Given the description of an element on the screen output the (x, y) to click on. 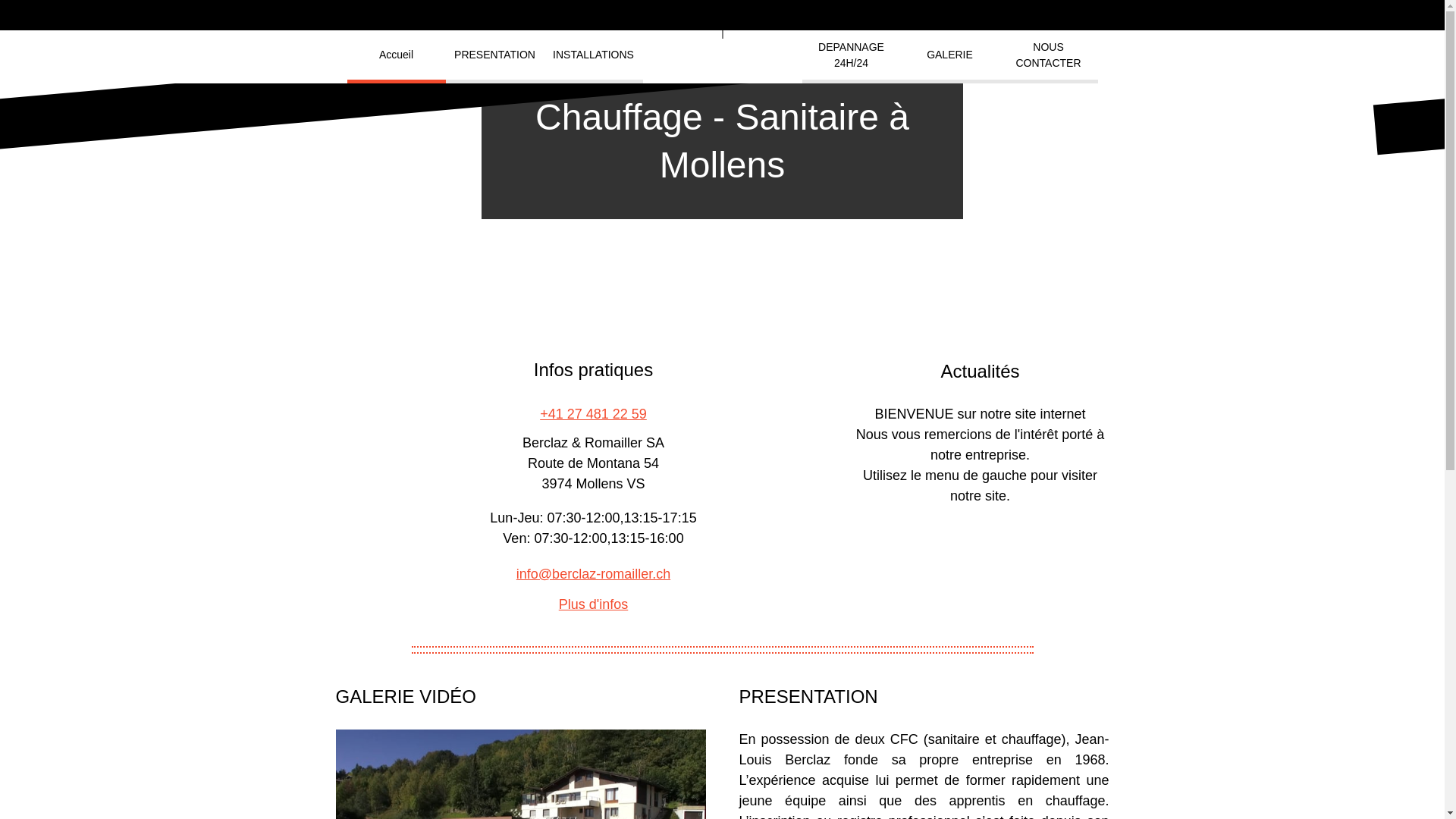
+41 27 481 22 59 Element type: text (592, 413)
PRESENTATION Element type: text (494, 56)
NOUS CONTACTER Element type: text (1048, 56)
Accueil Element type: text (396, 56)
INSTALLATIONS Element type: text (593, 56)
DEPANNAGE 24H/24 Element type: text (851, 56)
Plus d'infos Element type: text (593, 603)
info@berclaz-romailler.ch Element type: text (593, 573)
GALERIE Element type: text (949, 56)
